Given the description of an element on the screen output the (x, y) to click on. 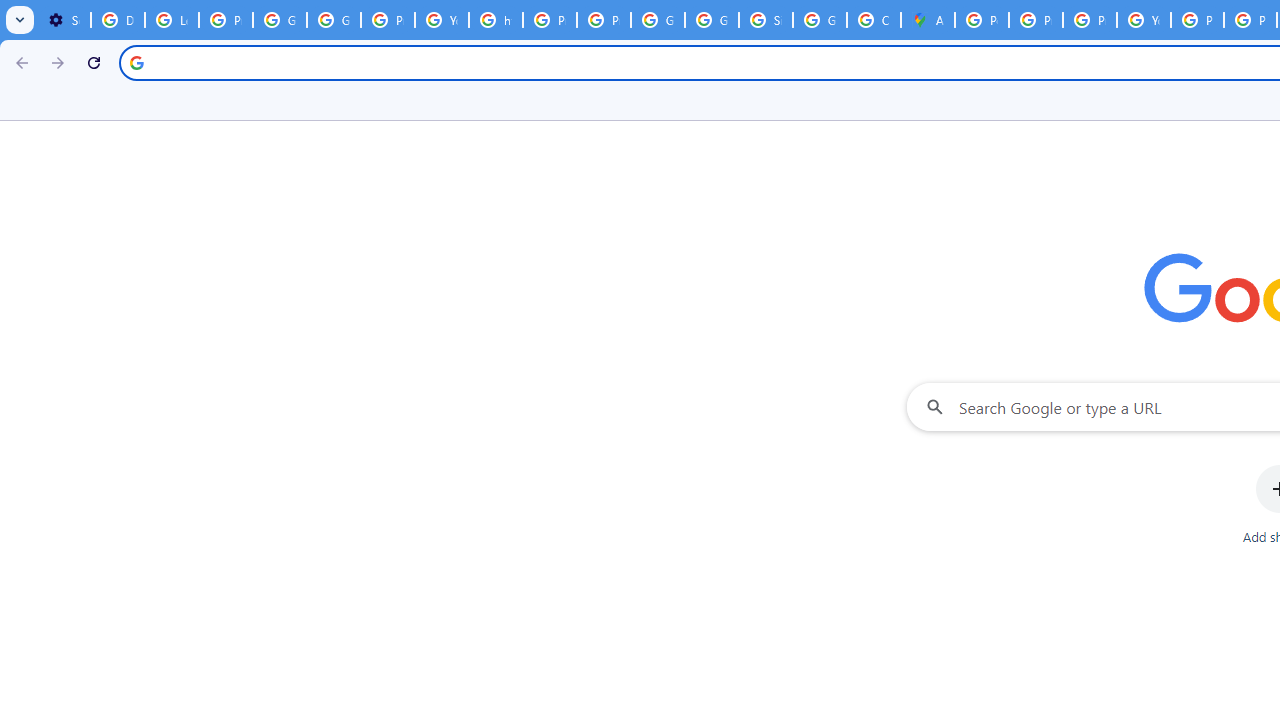
Settings - On startup (63, 20)
YouTube (441, 20)
https://scholar.google.com/ (495, 20)
Delete photos & videos - Computer - Google Photos Help (117, 20)
Privacy Help Center - Policies Help (550, 20)
Policy Accountability and Transparency - Transparency Center (981, 20)
Privacy Help Center - Policies Help (1035, 20)
Privacy Help Center - Policies Help (1089, 20)
